Given the description of an element on the screen output the (x, y) to click on. 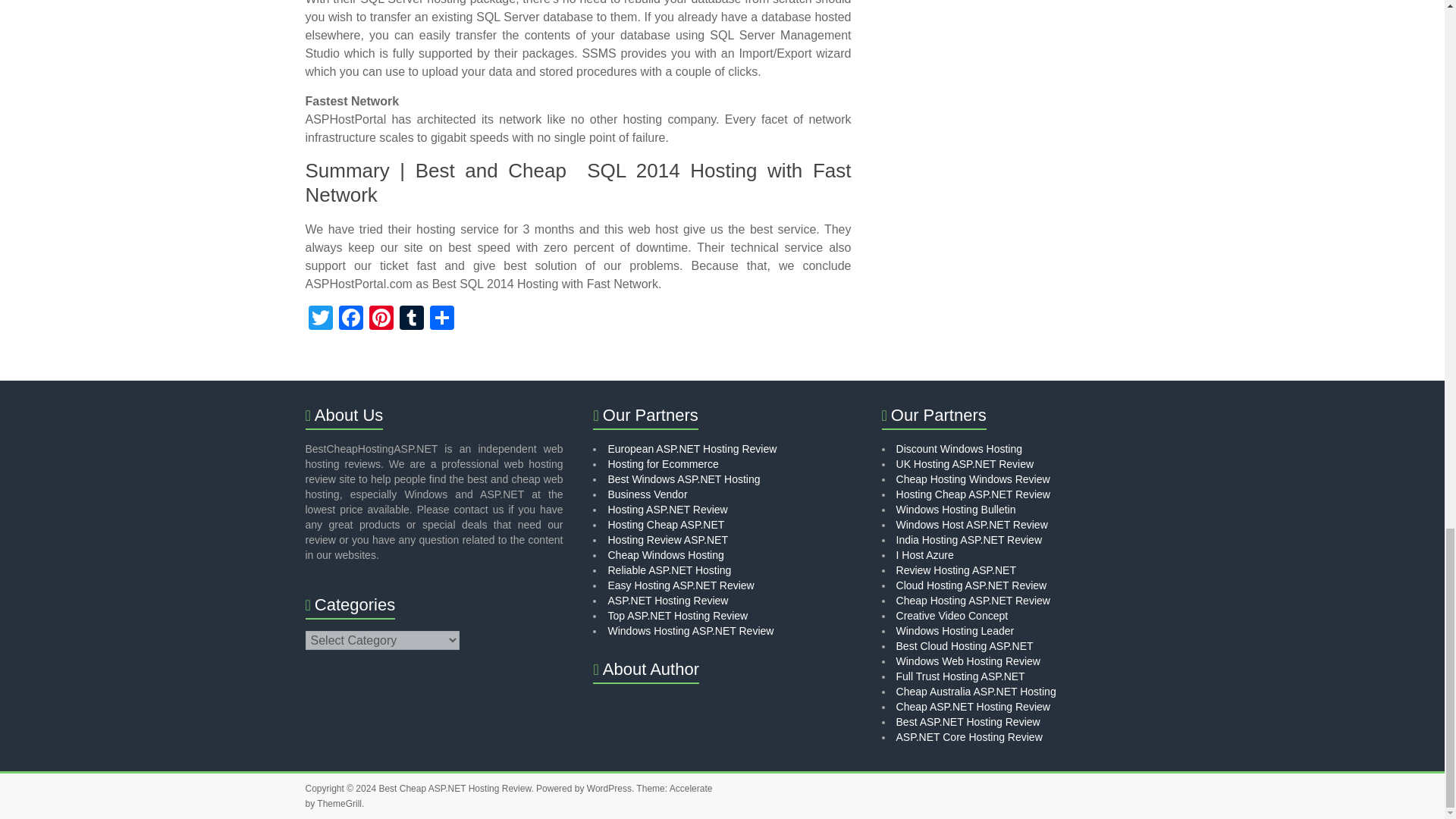
Tumblr (411, 319)
Twitter (319, 319)
WordPress (608, 787)
ThemeGrill (339, 803)
Pinterest (380, 319)
Tumblr (411, 319)
Twitter (319, 319)
Pinterest (380, 319)
Best Cheap ASP.NET Hosting Review (454, 787)
Facebook (349, 319)
Facebook (349, 319)
